Given the description of an element on the screen output the (x, y) to click on. 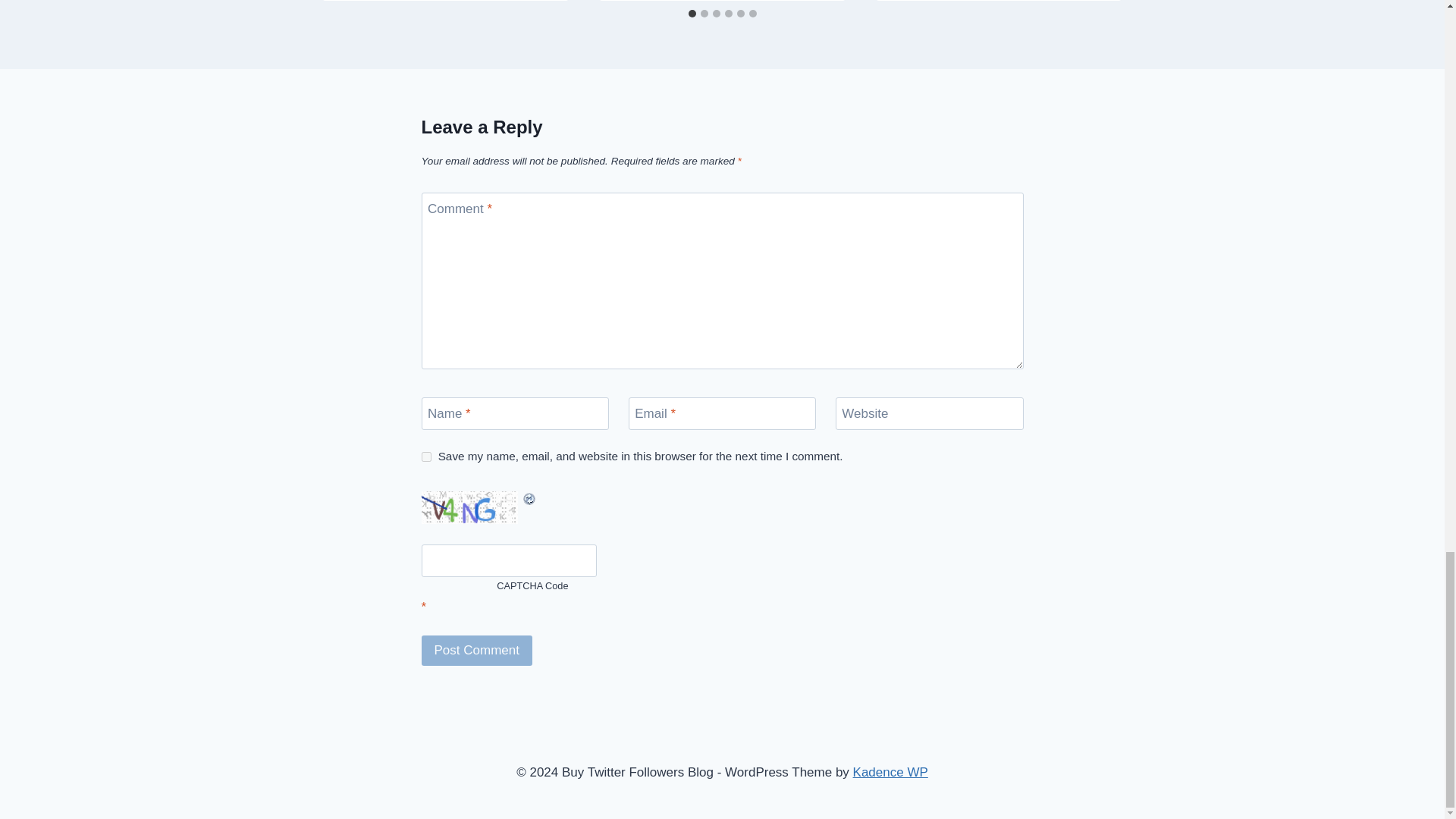
Refresh (488, 498)
Post Comment (477, 650)
CAPTCHA (471, 507)
yes (426, 456)
